Given the description of an element on the screen output the (x, y) to click on. 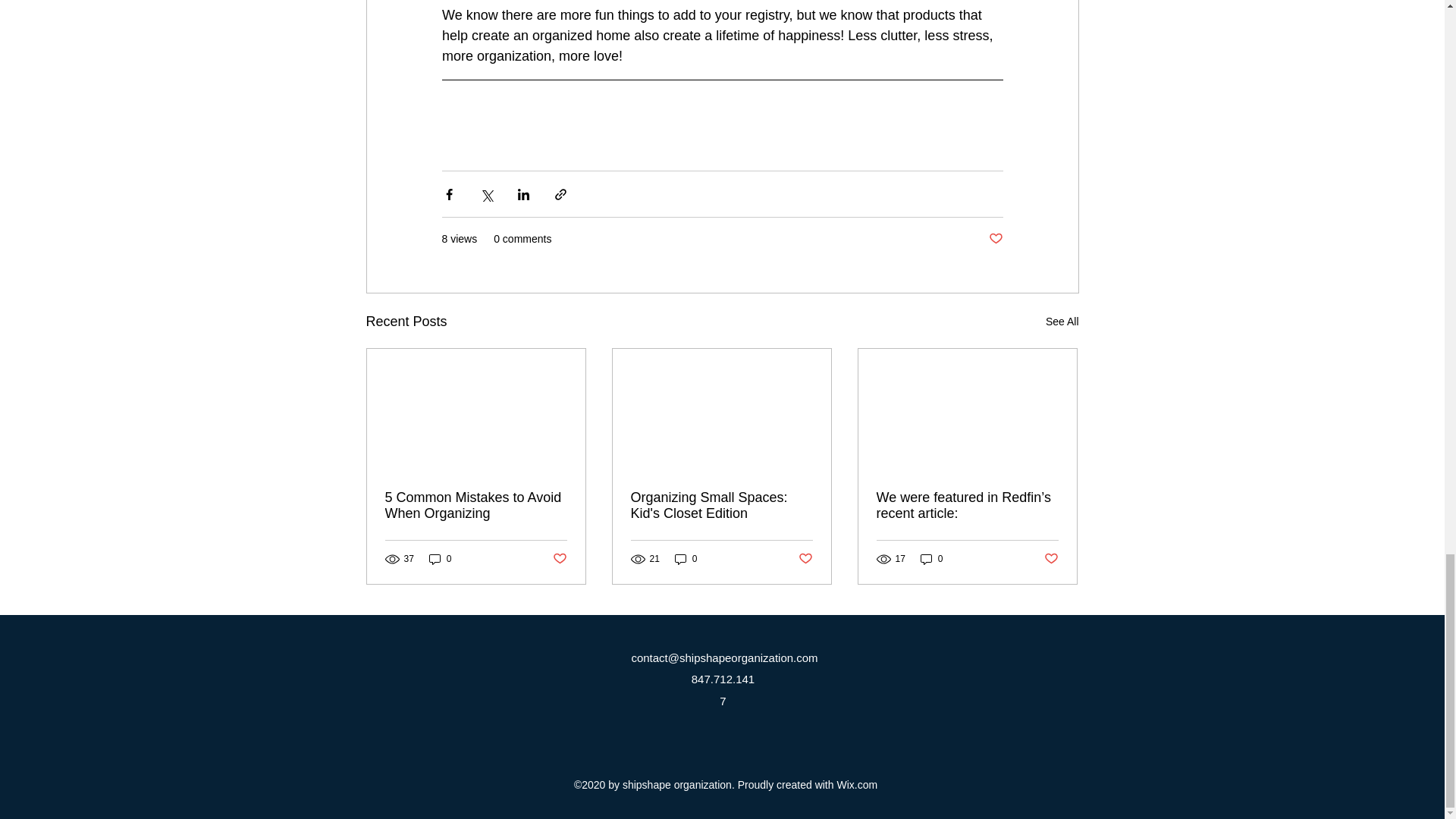
Post not marked as liked (558, 559)
0 (685, 559)
Organizing Small Spaces: Kid's Closet Edition (721, 505)
5 Common Mistakes to Avoid When Organizing (476, 505)
0 (931, 559)
Post not marked as liked (1050, 559)
0 (440, 559)
Post not marked as liked (804, 559)
Post not marked as liked (995, 238)
See All (1061, 321)
